Given the description of an element on the screen output the (x, y) to click on. 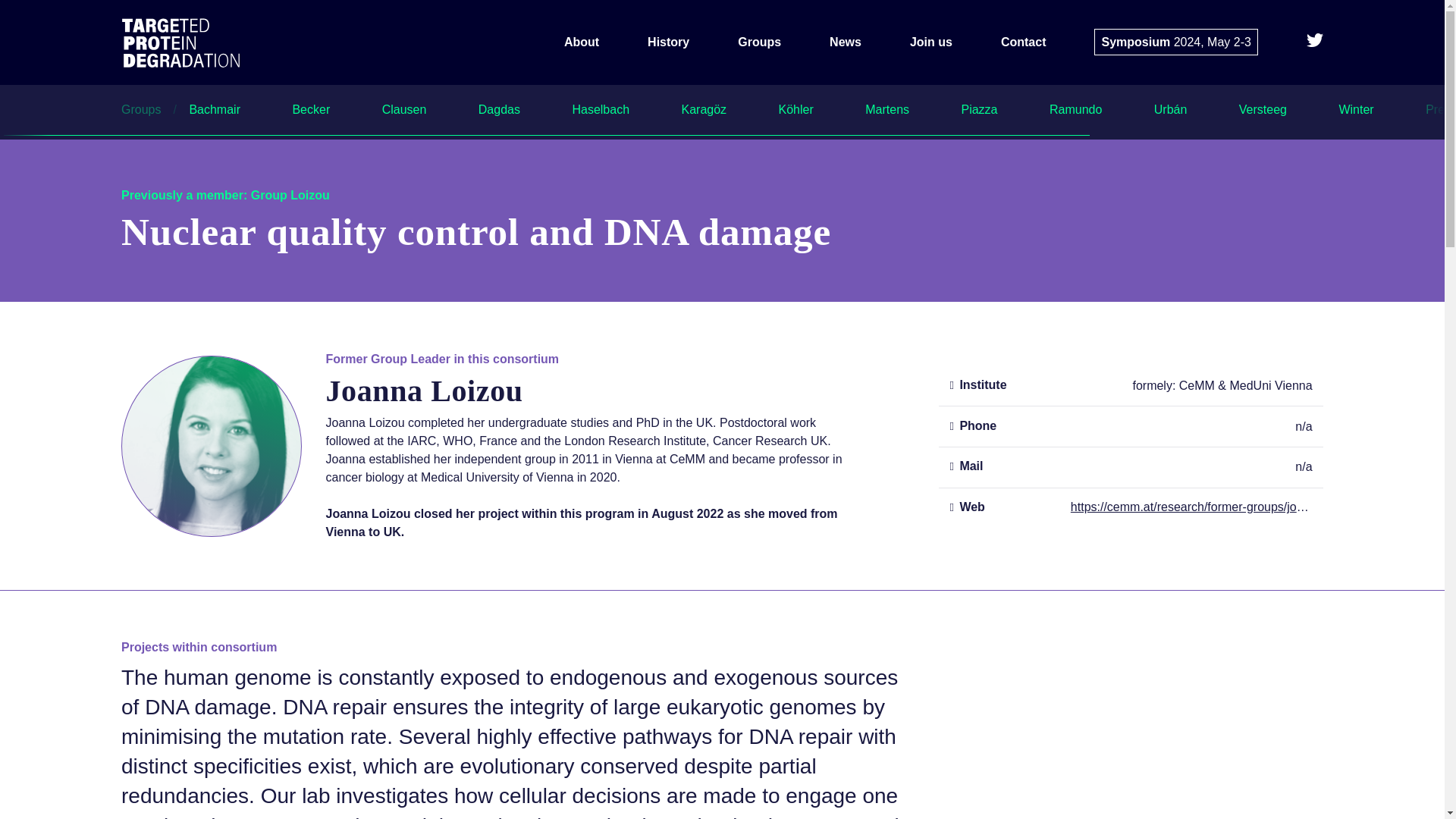
History (667, 42)
Becker (311, 109)
Ramundo (1075, 109)
Winter (1355, 109)
Bachmair (214, 109)
Follow us on Twitter! (1314, 42)
Targeted Protein Degradation (193, 42)
About (581, 42)
Dagdas (499, 109)
Join us (931, 42)
Versteeg (1263, 109)
Symposium 2024, May 2-3 (1175, 41)
Groups (759, 42)
Piazza (978, 109)
Groups (148, 109)
